Given the description of an element on the screen output the (x, y) to click on. 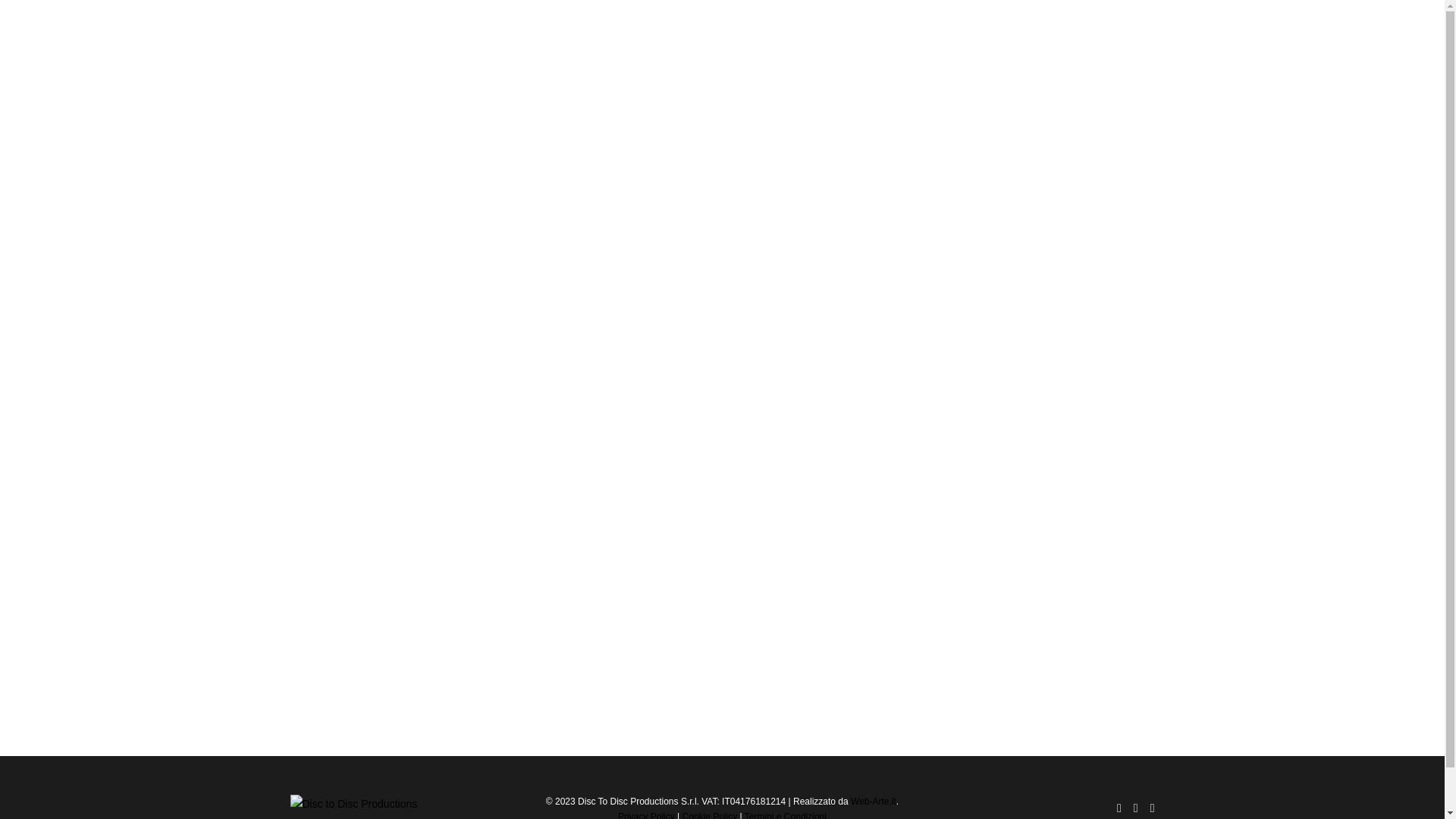
Privacy Policy (646, 815)
Web-Arte.it (873, 801)
Termini e Condizioni (785, 815)
Cookie Policy (710, 815)
Disc to Disc Productions (95, 37)
